Given the description of an element on the screen output the (x, y) to click on. 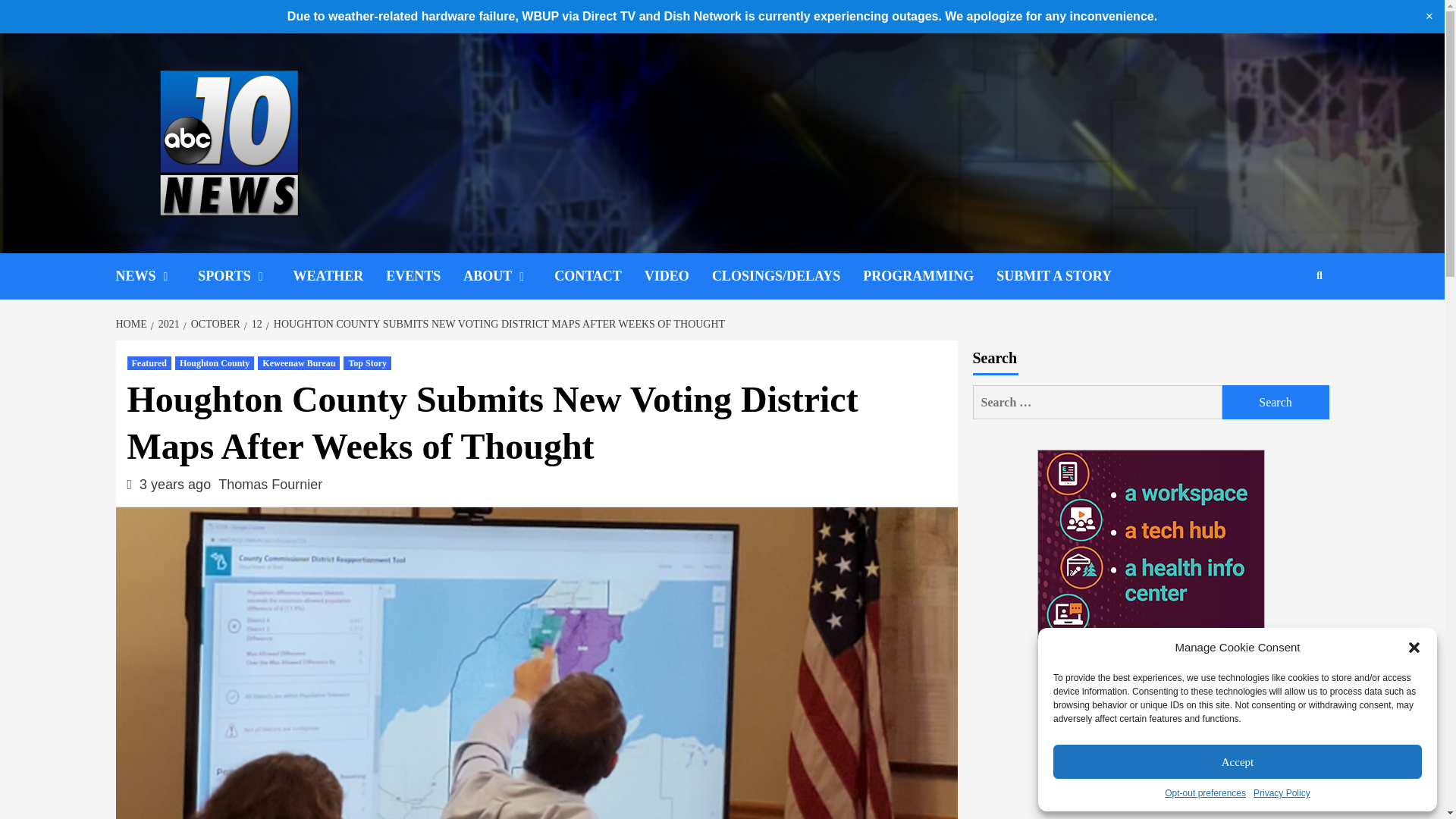
ABOUT (508, 276)
Accept (1237, 761)
NEWS (156, 276)
Privacy Policy (1281, 793)
WEATHER (340, 276)
Opt-out preferences (1205, 793)
EVENTS (424, 276)
SPORTS (245, 276)
Search (1276, 401)
Advertisement (1149, 744)
Search (1276, 401)
